Given the description of an element on the screen output the (x, y) to click on. 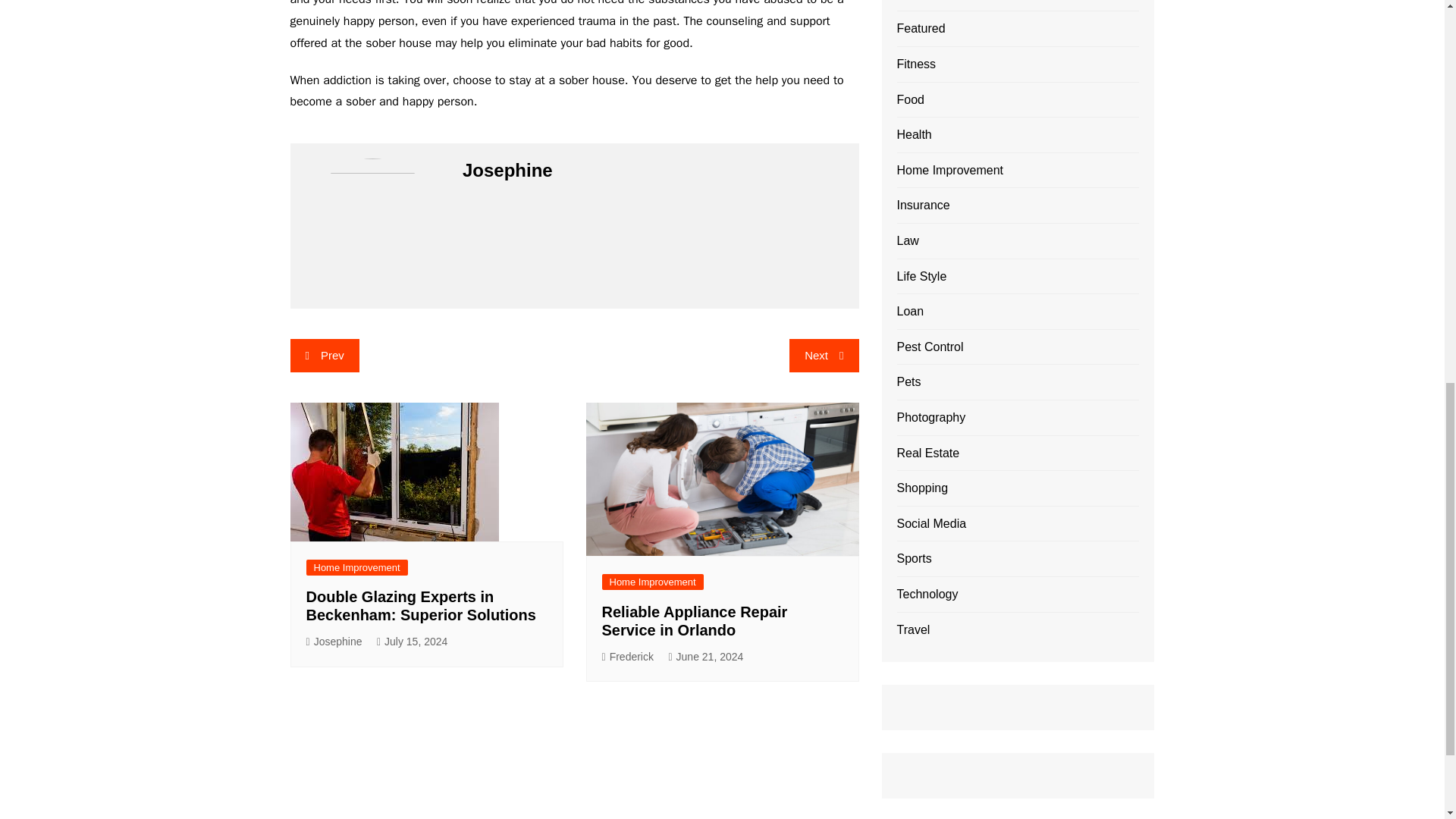
Reliable Appliance Repair Service in Orlando (694, 620)
Home Improvement (652, 581)
Prev (323, 355)
Double Glazing Experts in Beckenham: Superior Solutions (420, 605)
July 15, 2024 (411, 641)
Josephine (333, 641)
Home Improvement (356, 567)
Next (824, 355)
June 21, 2024 (705, 656)
Frederick (627, 656)
